Given the description of an element on the screen output the (x, y) to click on. 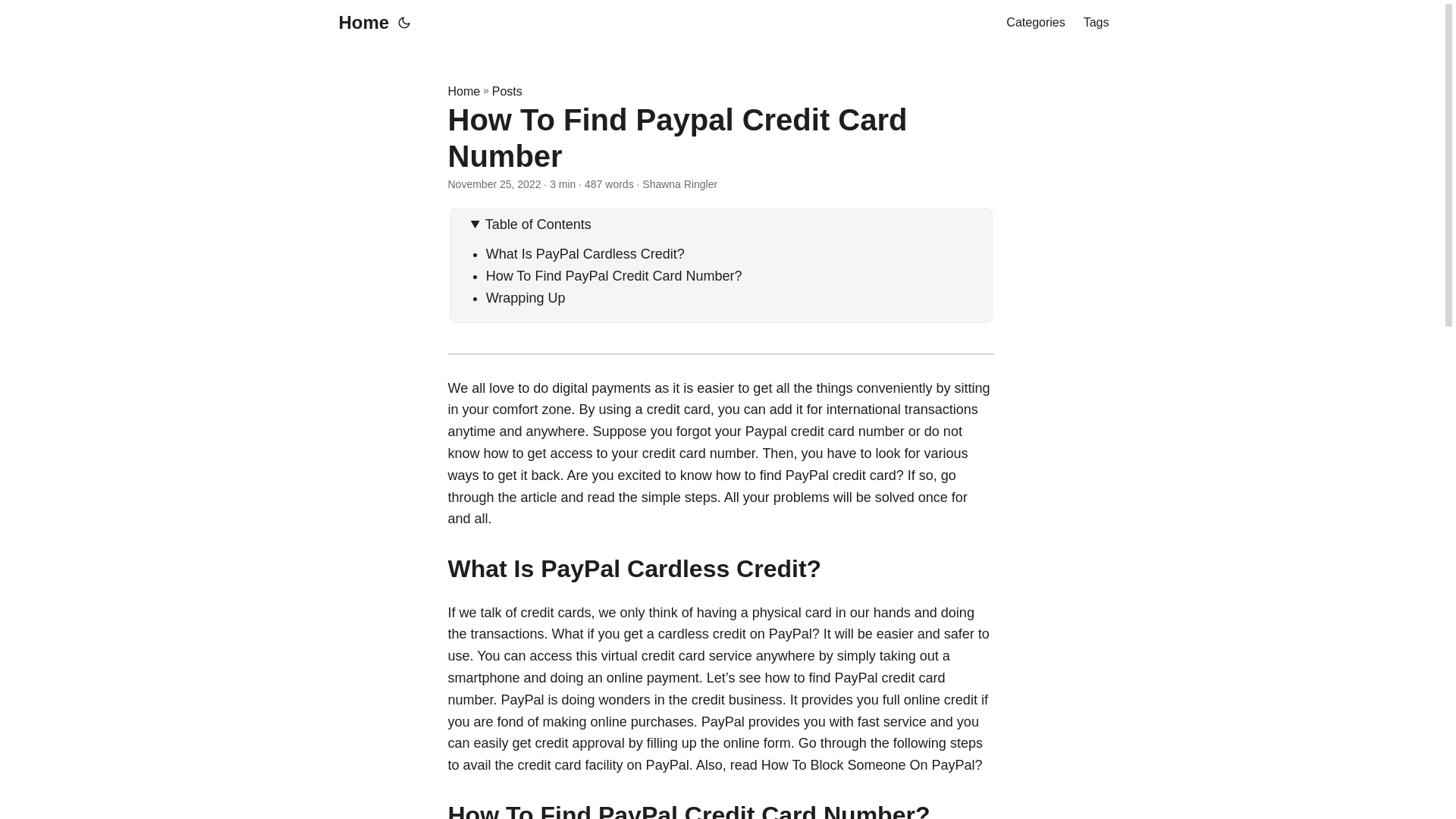
Categories (1035, 22)
What Is PayPal Cardless Credit? (585, 253)
Home (463, 91)
Posts (507, 91)
How To Find PayPal Credit Card Number? (614, 275)
Wrapping Up (526, 297)
Home (359, 22)
Categories (1035, 22)
